Given the description of an element on the screen output the (x, y) to click on. 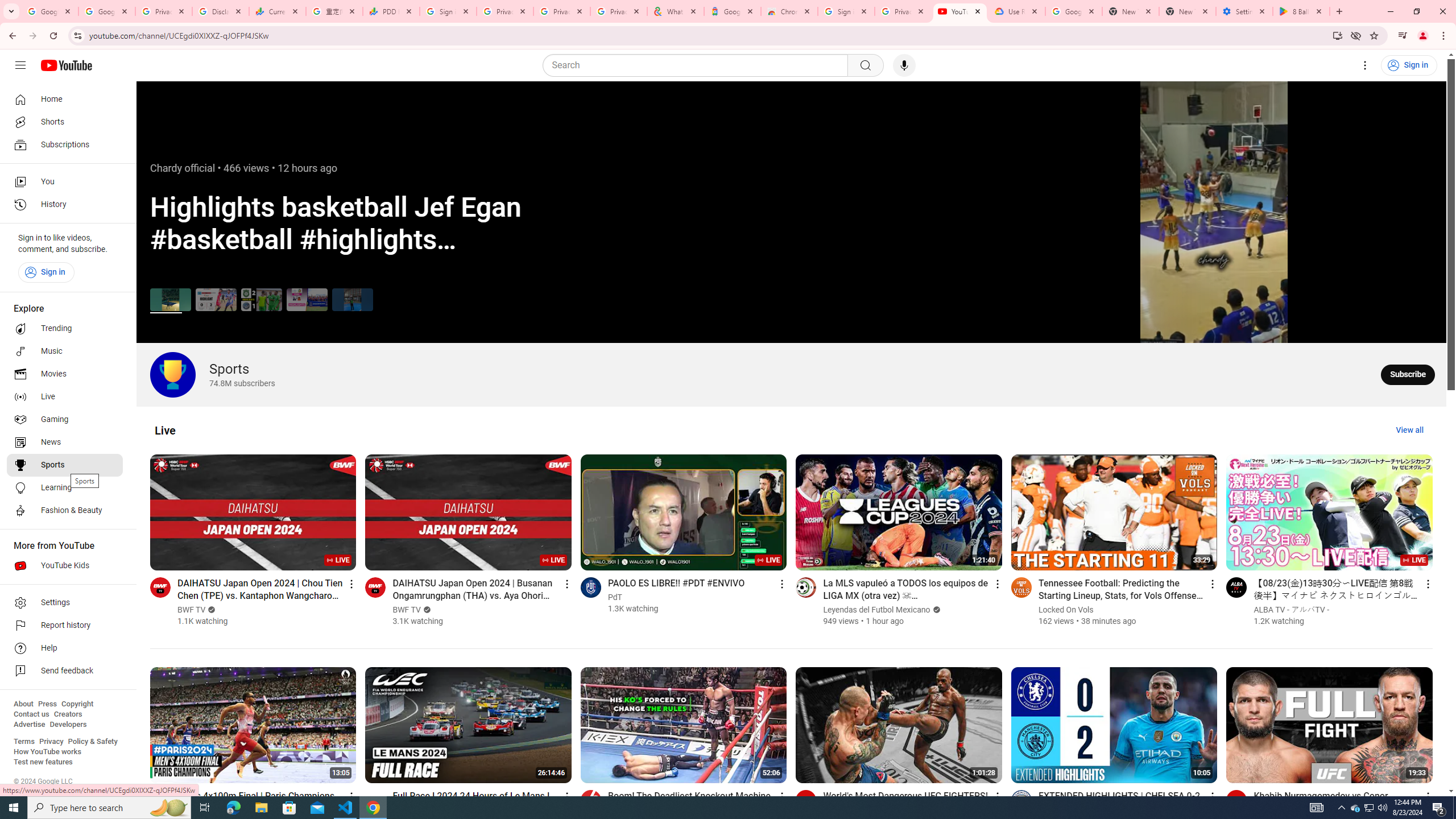
How YouTube works (47, 751)
About (23, 703)
Settings - System (1244, 11)
Privacy Checkup (561, 11)
